Given the description of an element on the screen output the (x, y) to click on. 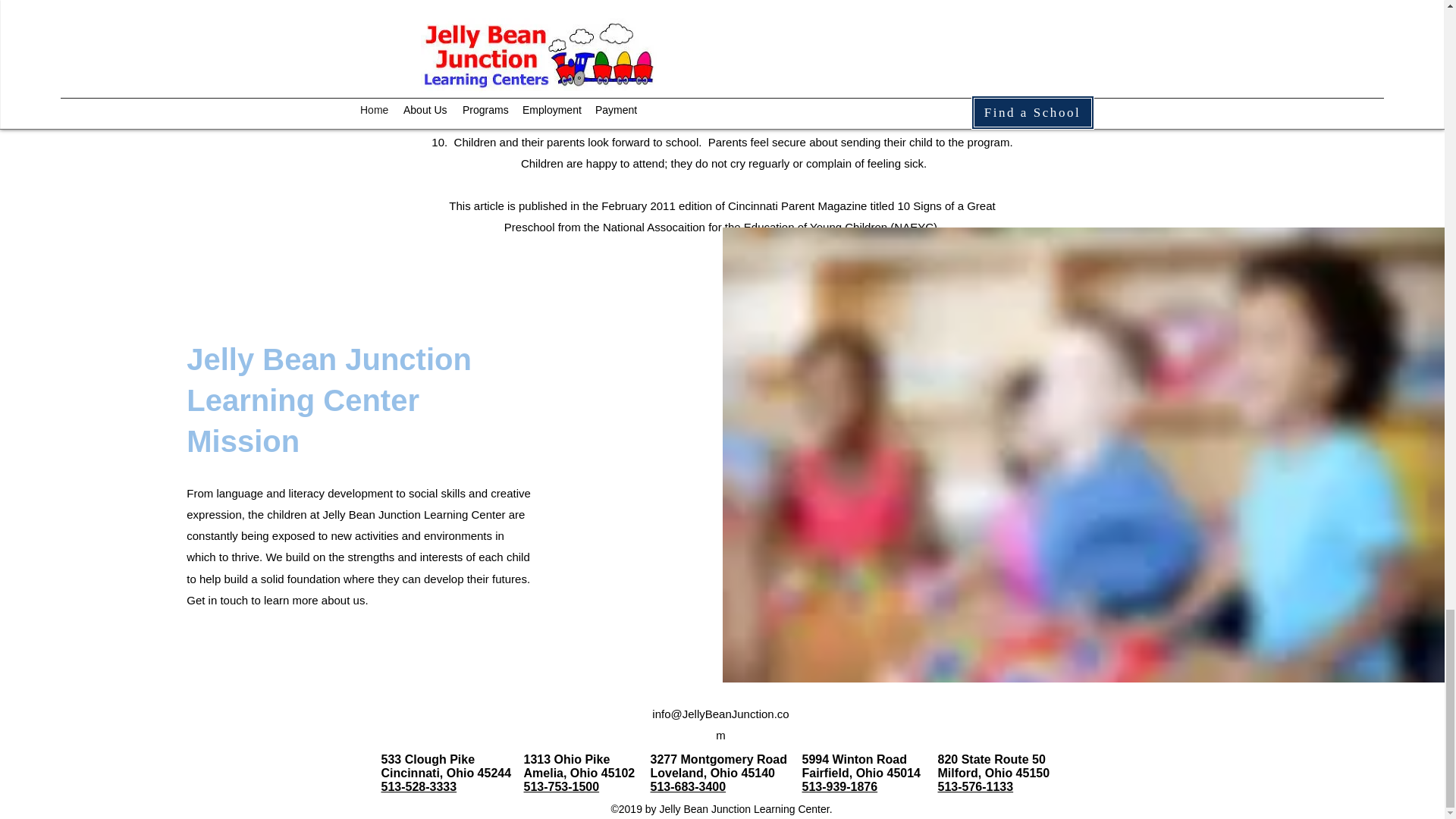
513-576-1133 (975, 786)
513-683-3400 (688, 786)
513-939-1876 (839, 786)
513-753-1500 (560, 786)
513-528-3333 (418, 786)
